Given the description of an element on the screen output the (x, y) to click on. 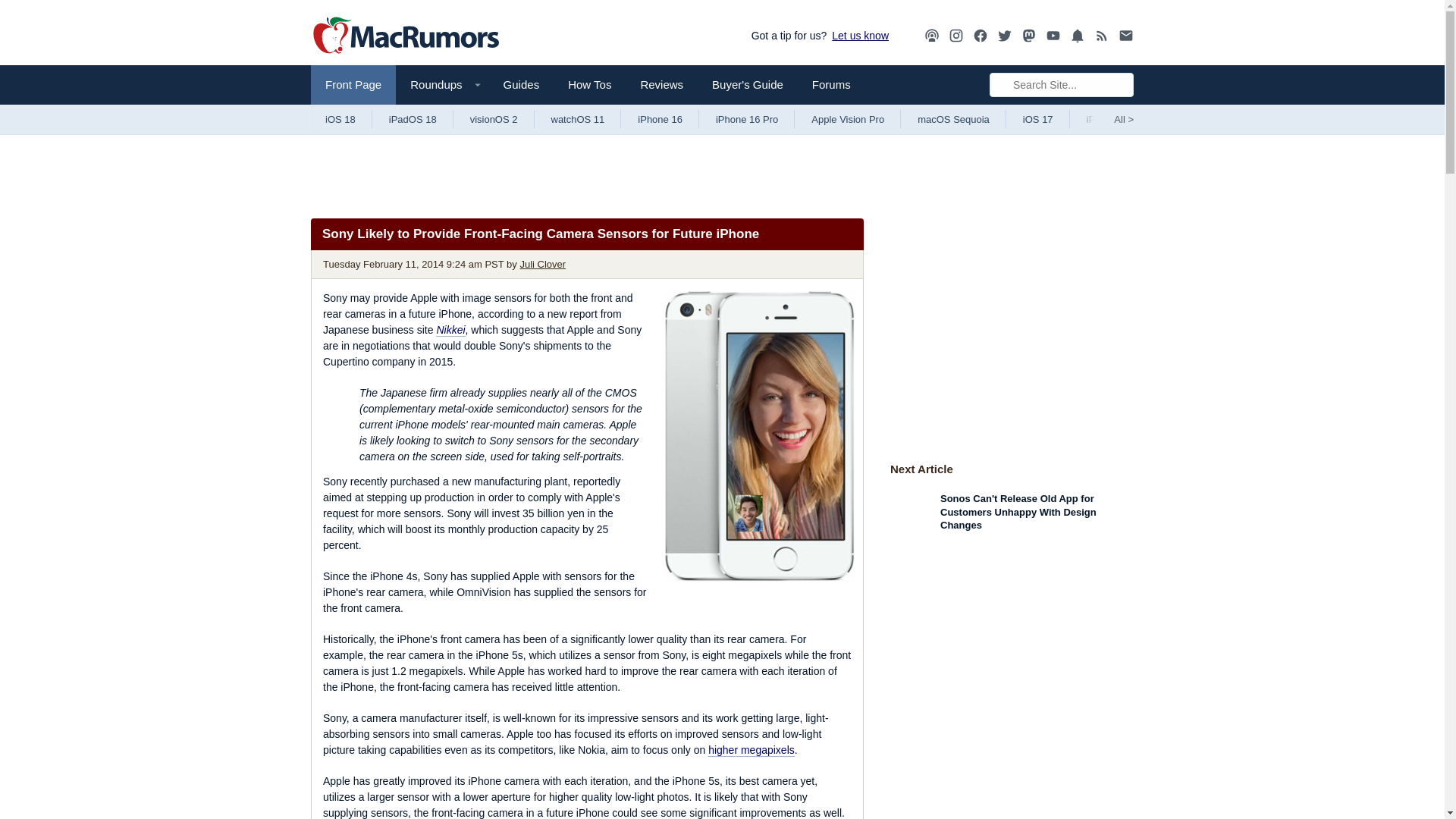
Forums (830, 84)
MacRumors Show (931, 35)
YouTube (1053, 35)
Instagram (956, 35)
MacRumors Push Notifications (1077, 35)
MacRumors on Twitter (1004, 35)
Roundups (441, 84)
RSS (1101, 35)
Instagram (956, 35)
Mastodon (1029, 35)
